Given the description of an element on the screen output the (x, y) to click on. 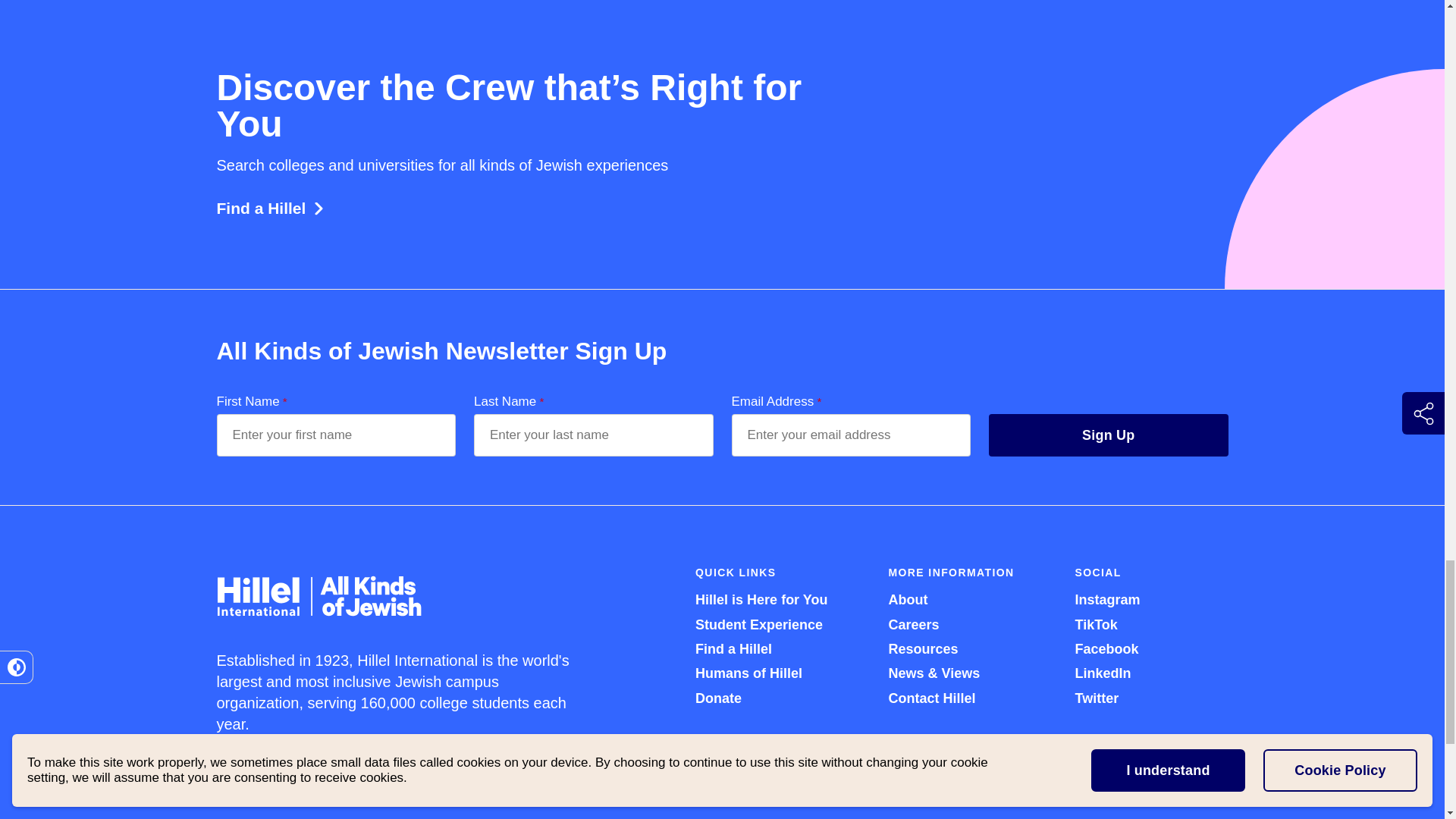
First Name (336, 435)
Email Address (850, 435)
Sign Up (1108, 435)
Last Name (593, 435)
